Given the description of an element on the screen output the (x, y) to click on. 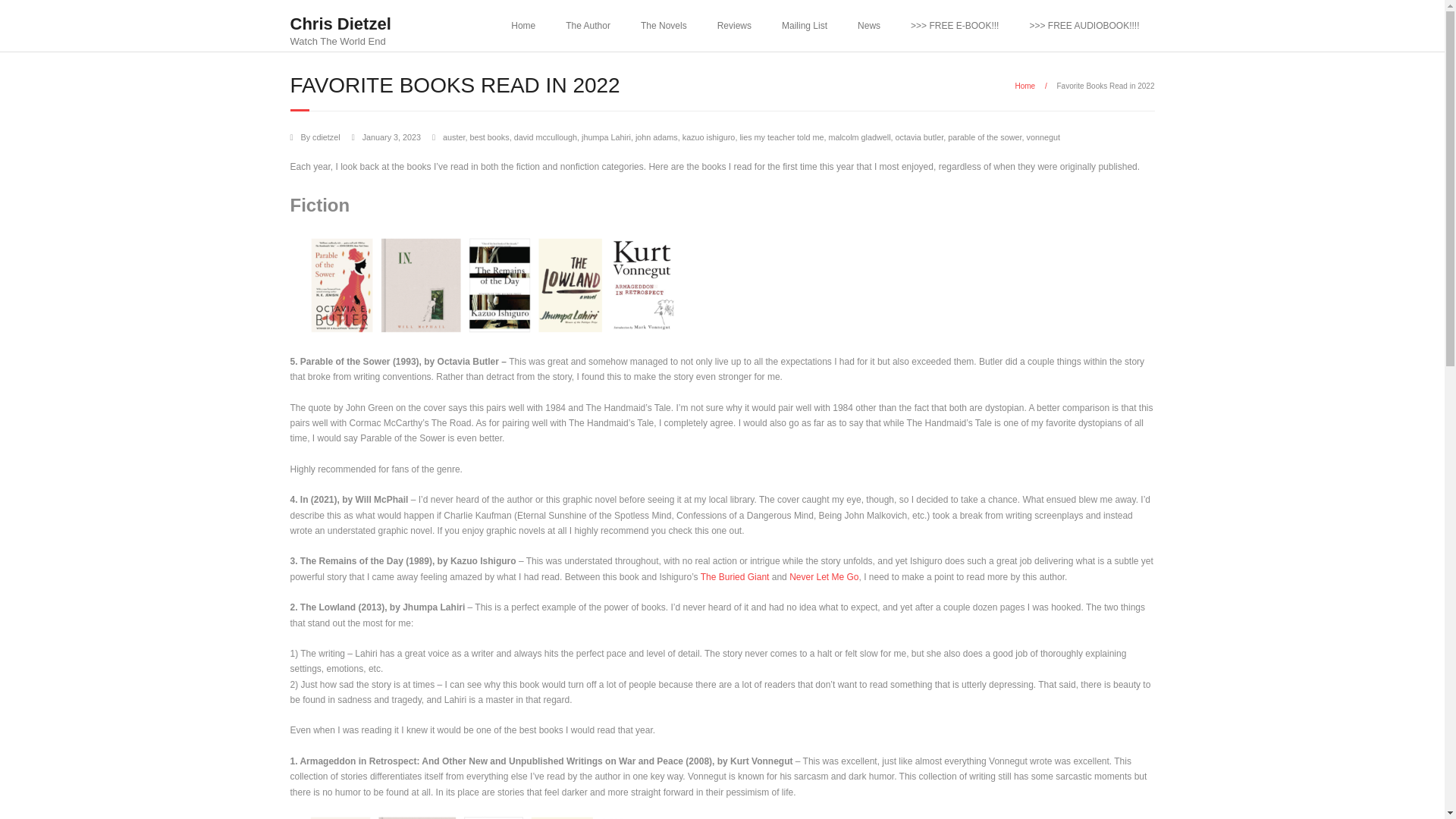
cdietzel (326, 136)
parable of the sower (984, 136)
Home (339, 26)
Chris Dietzel (523, 25)
Home (339, 23)
News (1024, 85)
octavia butler (869, 25)
View all posts by cdietzel (919, 136)
Never Let Me Go (326, 136)
